Given the description of an element on the screen output the (x, y) to click on. 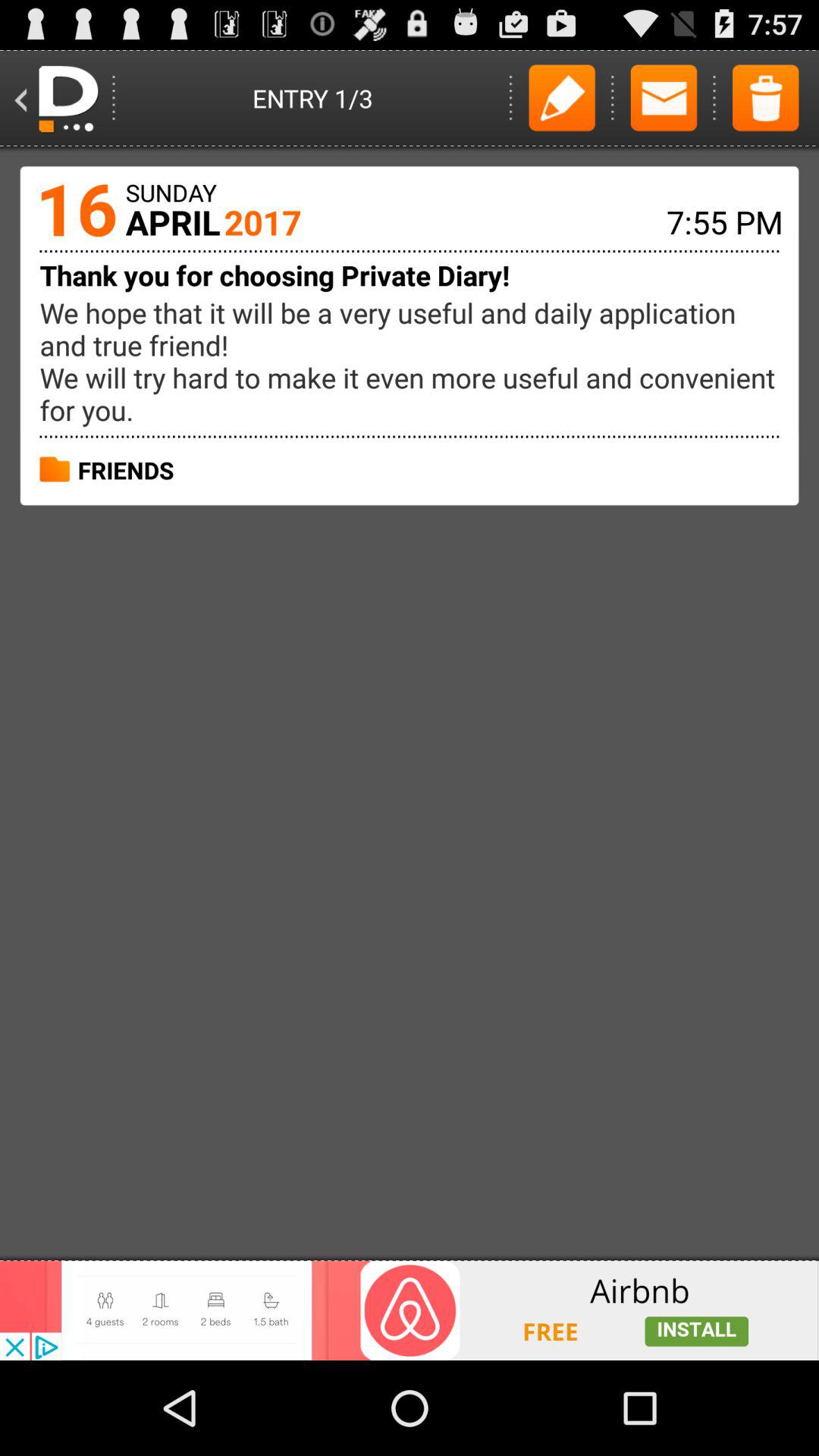
select the thank you for choosing private diary text (274, 275)
select the dotted lines which is on the right side of d (114, 98)
select the dotted lines which is in between message and delete button (714, 98)
click the edit button on the web page (562, 98)
